Given the description of an element on the screen output the (x, y) to click on. 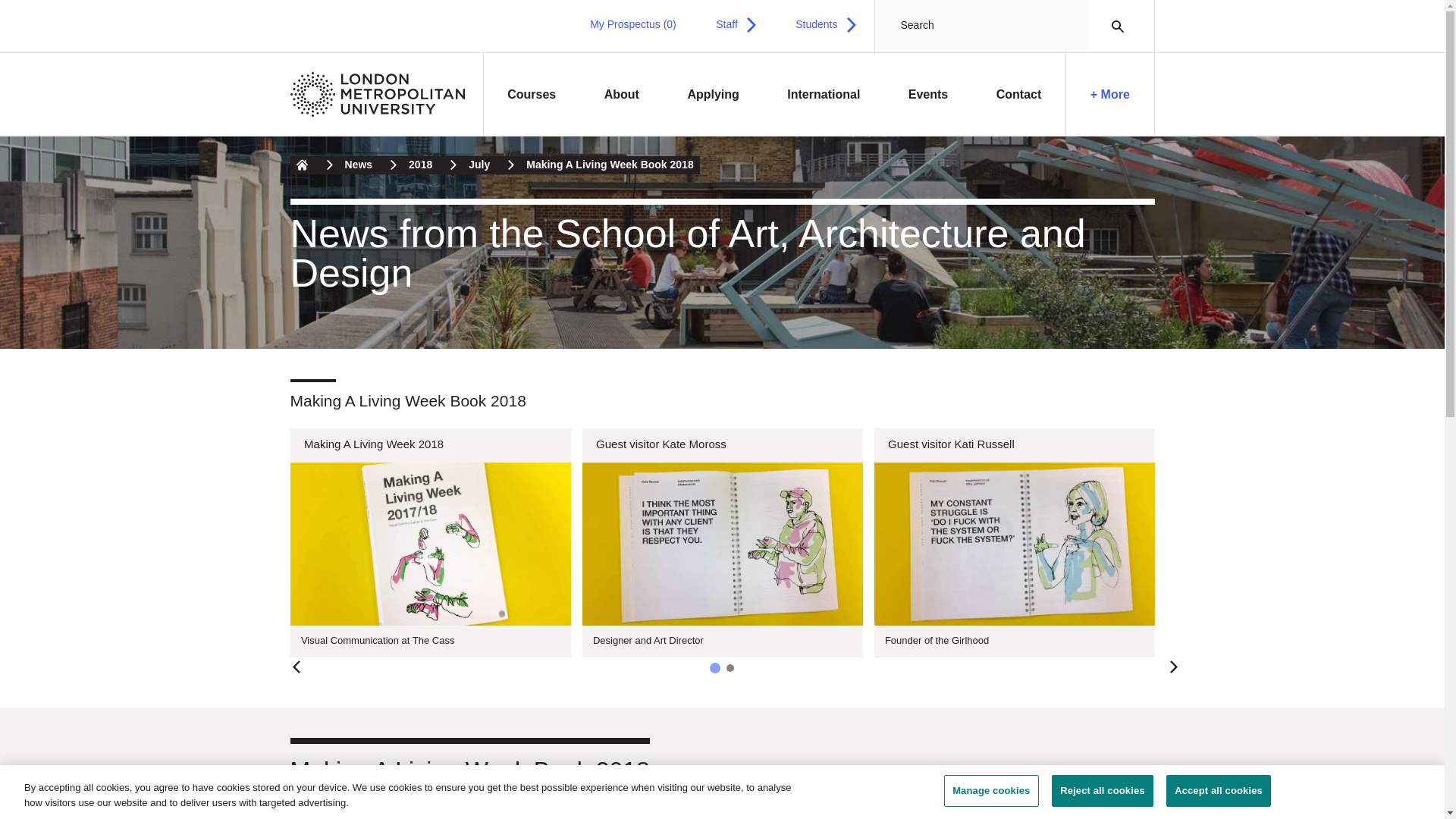
Search (1113, 26)
Staff (735, 24)
Students (825, 24)
Search (1113, 26)
Courses (531, 94)
About (621, 94)
